Given the description of an element on the screen output the (x, y) to click on. 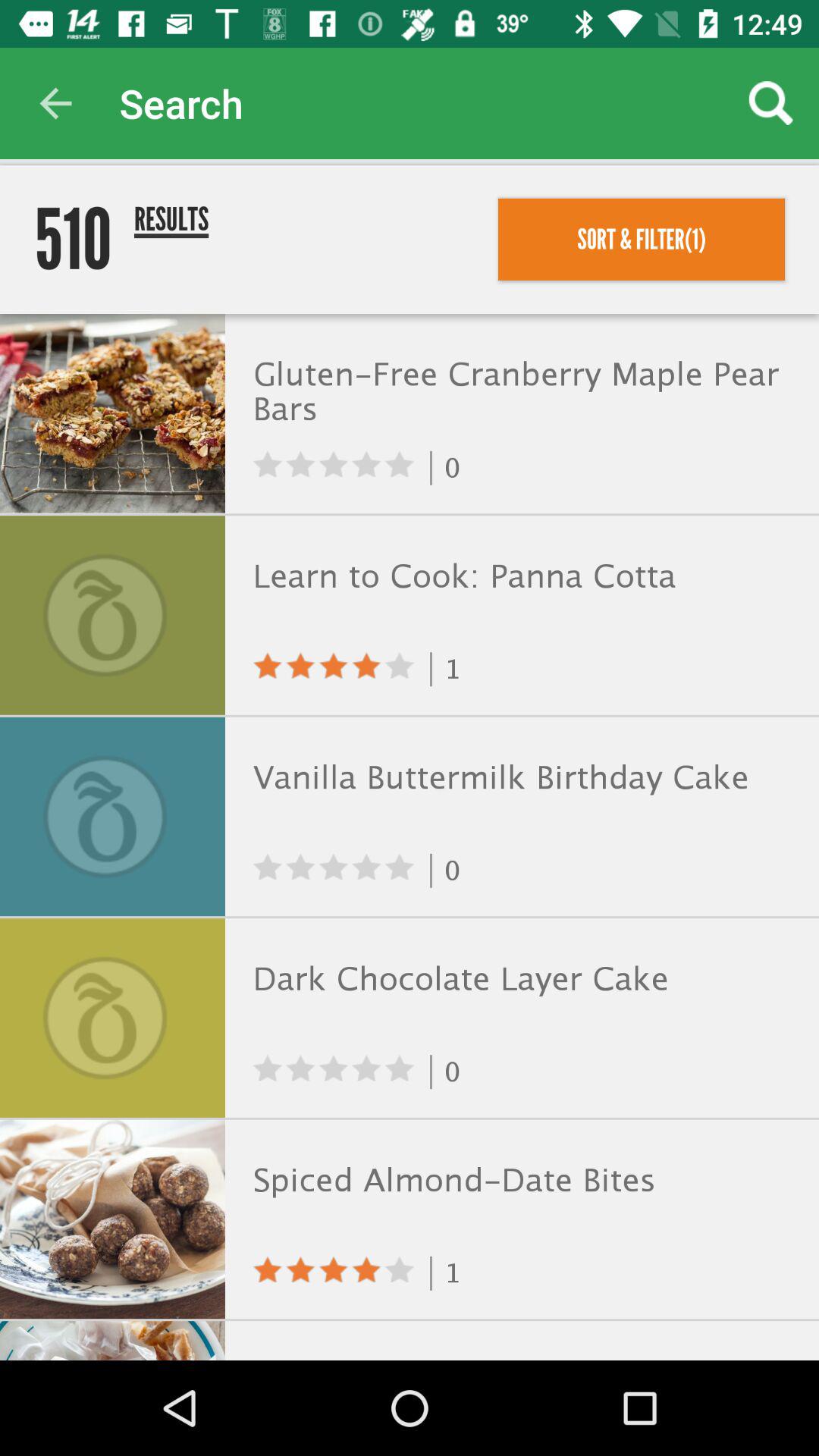
launch the item below the 0 icon (518, 576)
